Given the description of an element on the screen output the (x, y) to click on. 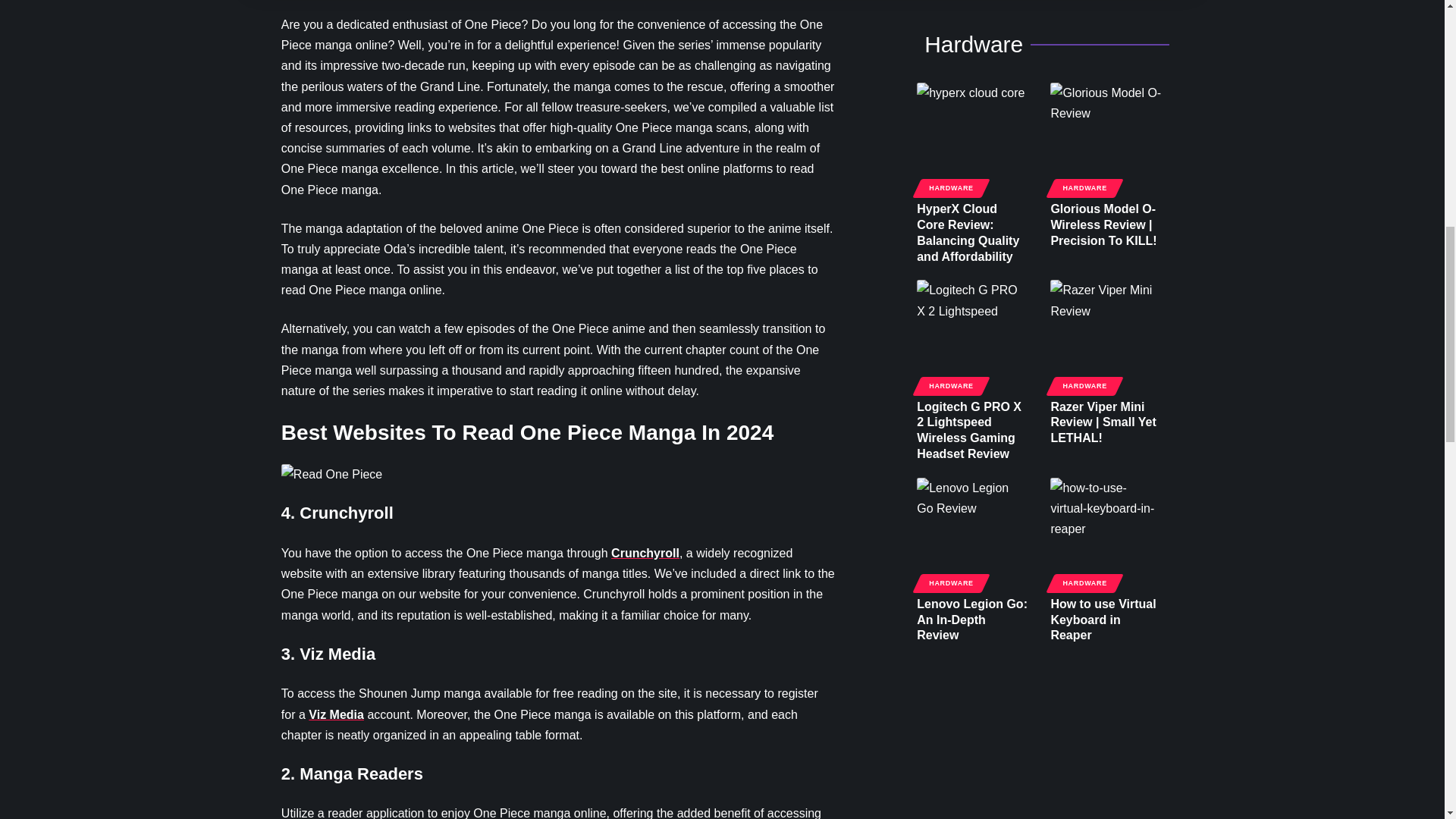
Crunchyroll (645, 553)
How to use Virtual Keyboard in Reaper (1104, 532)
Lenovo Legion Go: An In-Depth Review (972, 532)
Viz Media (336, 714)
Logitech G PRO X 2 Lightspeed Wireless Gaming Headset Review (972, 335)
